Given the description of an element on the screen output the (x, y) to click on. 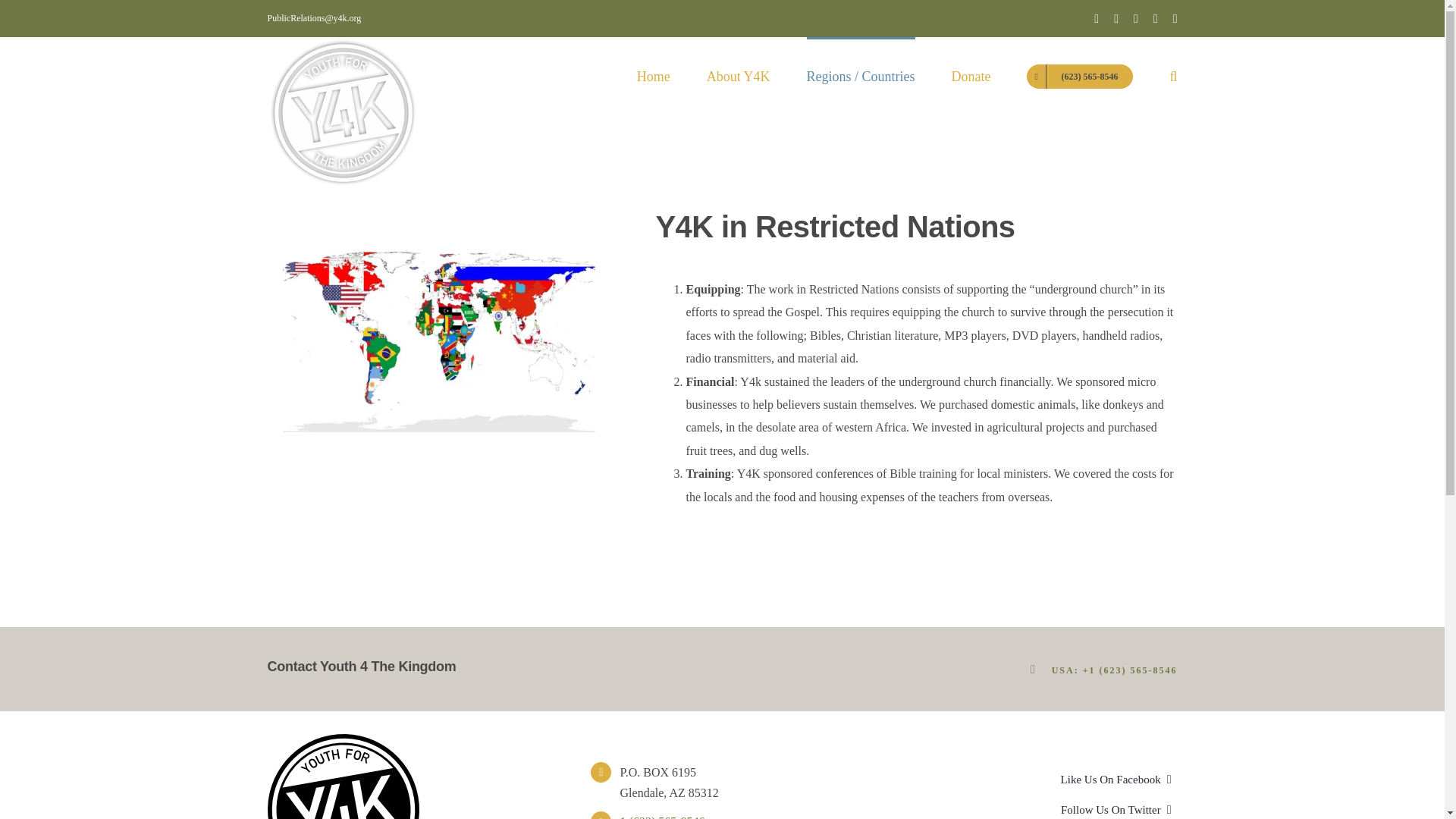
Globe (430, 335)
Y4K Logo 200px Black (343, 776)
